Given the description of an element on the screen output the (x, y) to click on. 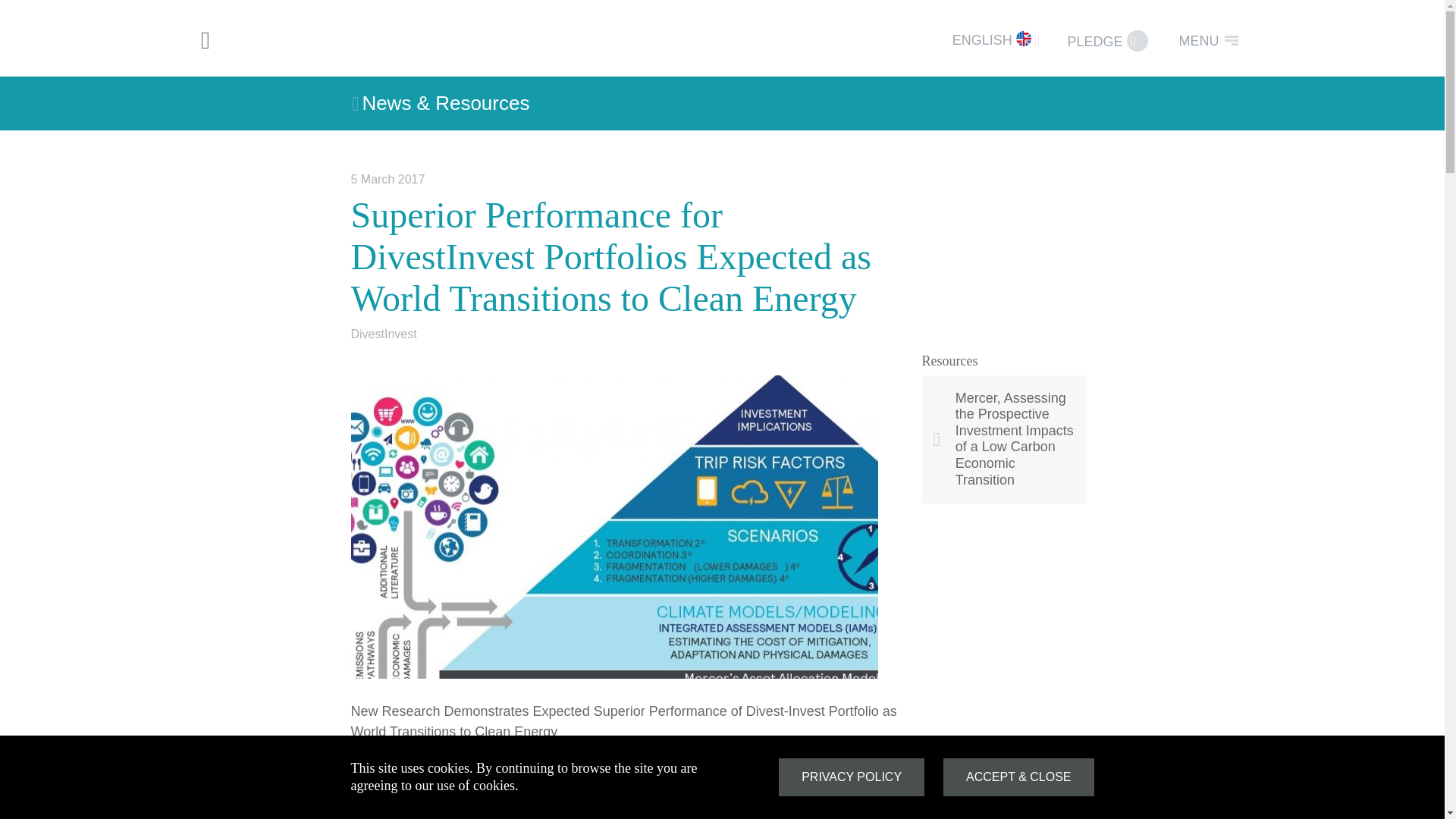
English (1023, 38)
ENGLISH (979, 40)
MENU (1207, 40)
Current Language (979, 40)
PLEDGE (1107, 40)
